Given the description of an element on the screen output the (x, y) to click on. 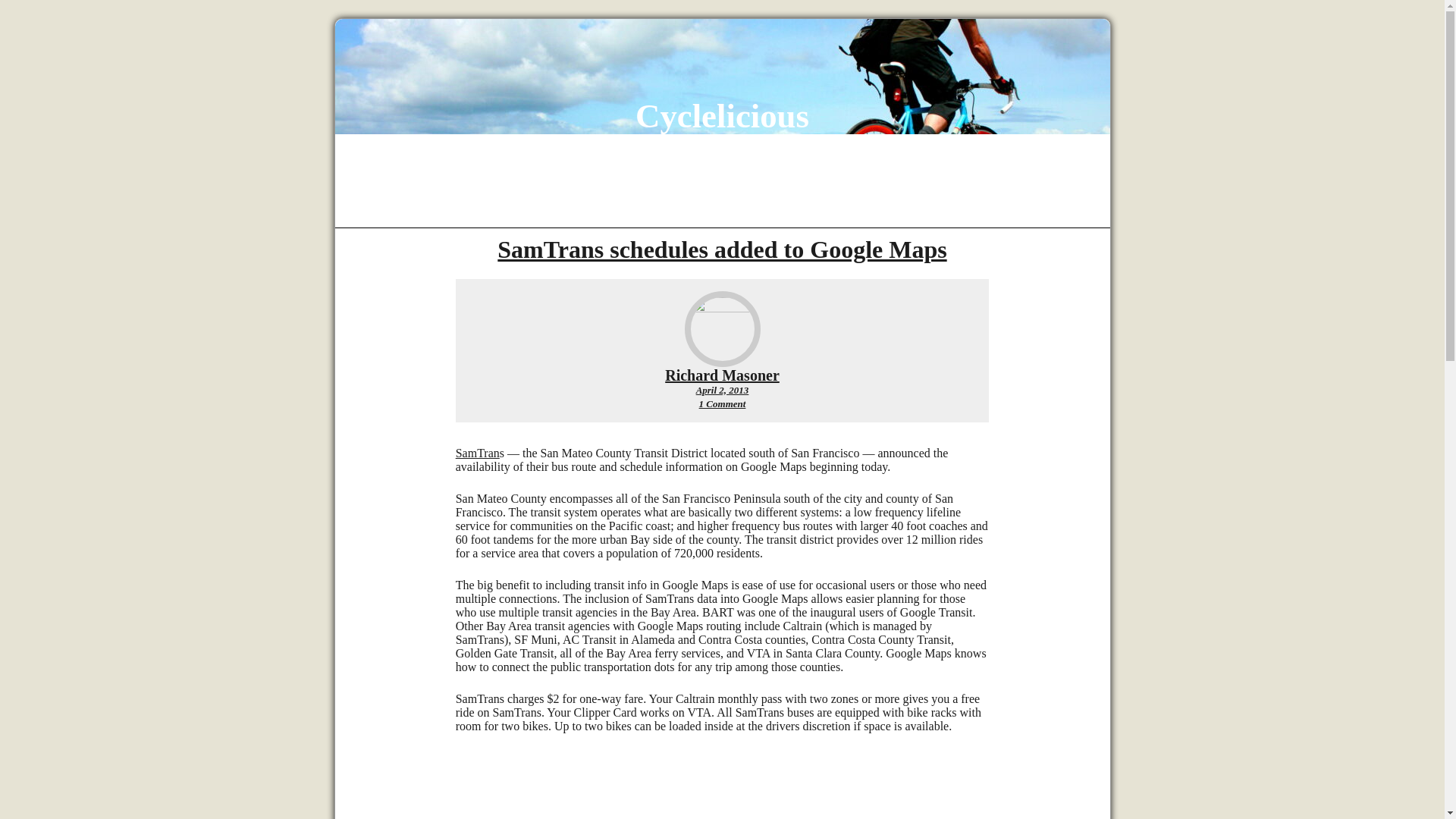
SamTran (477, 452)
View all posts by Richard Masoner (721, 403)
SamTrans - San Mateo County Transit District (721, 375)
SamTrans schedules added to Google Maps (477, 452)
Richard Masoner (721, 248)
Cyclelicious (721, 375)
Skip to content (721, 116)
April 2, 2013 (722, 389)
